Given the description of an element on the screen output the (x, y) to click on. 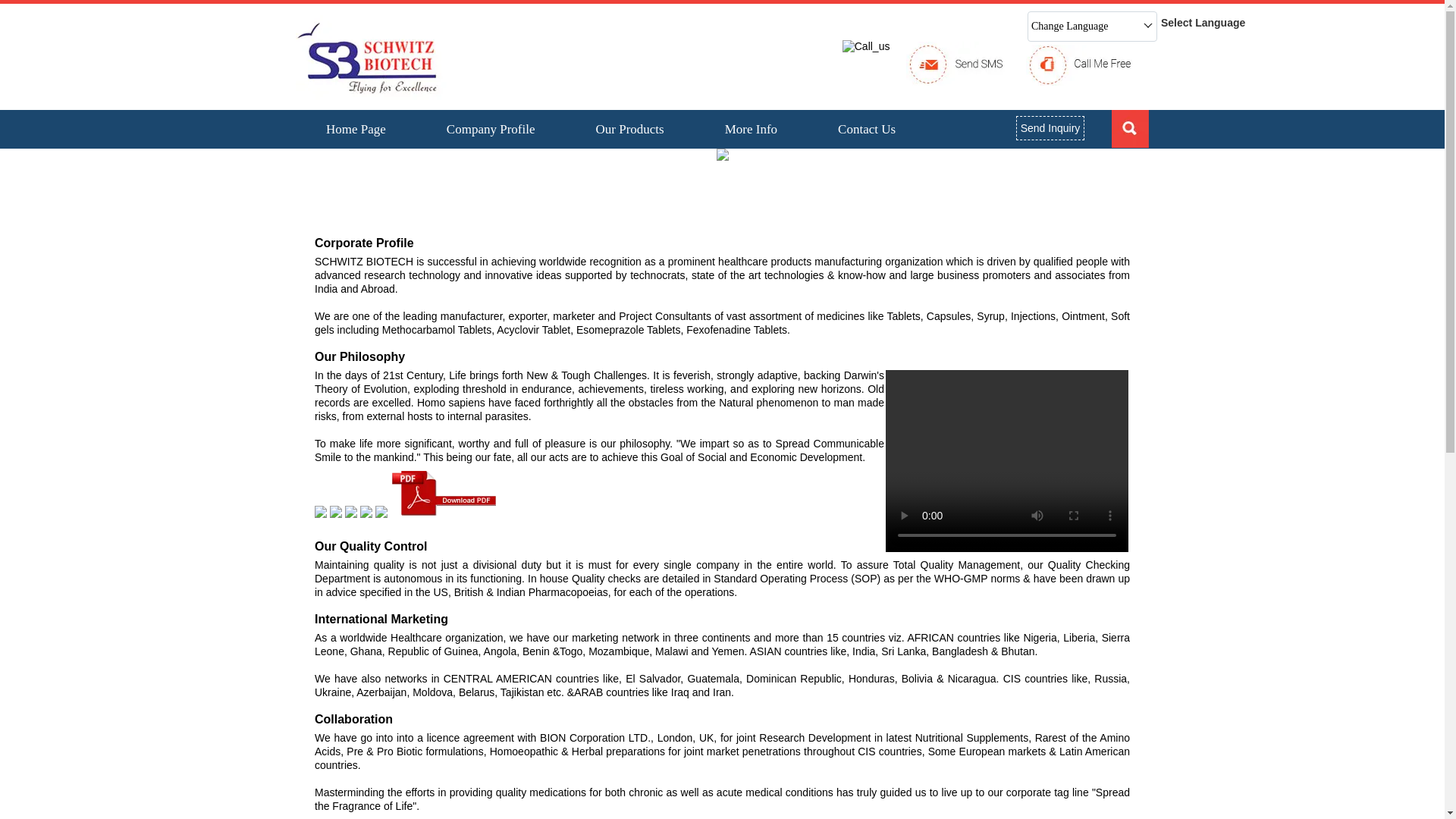
Schwitz Biotech (370, 57)
Select Language (1203, 22)
Send SMS (955, 63)
Home Page (355, 128)
Our Products (629, 128)
Call-us (866, 46)
Call Me Free (1079, 65)
Company Profile (491, 128)
